Given the description of an element on the screen output the (x, y) to click on. 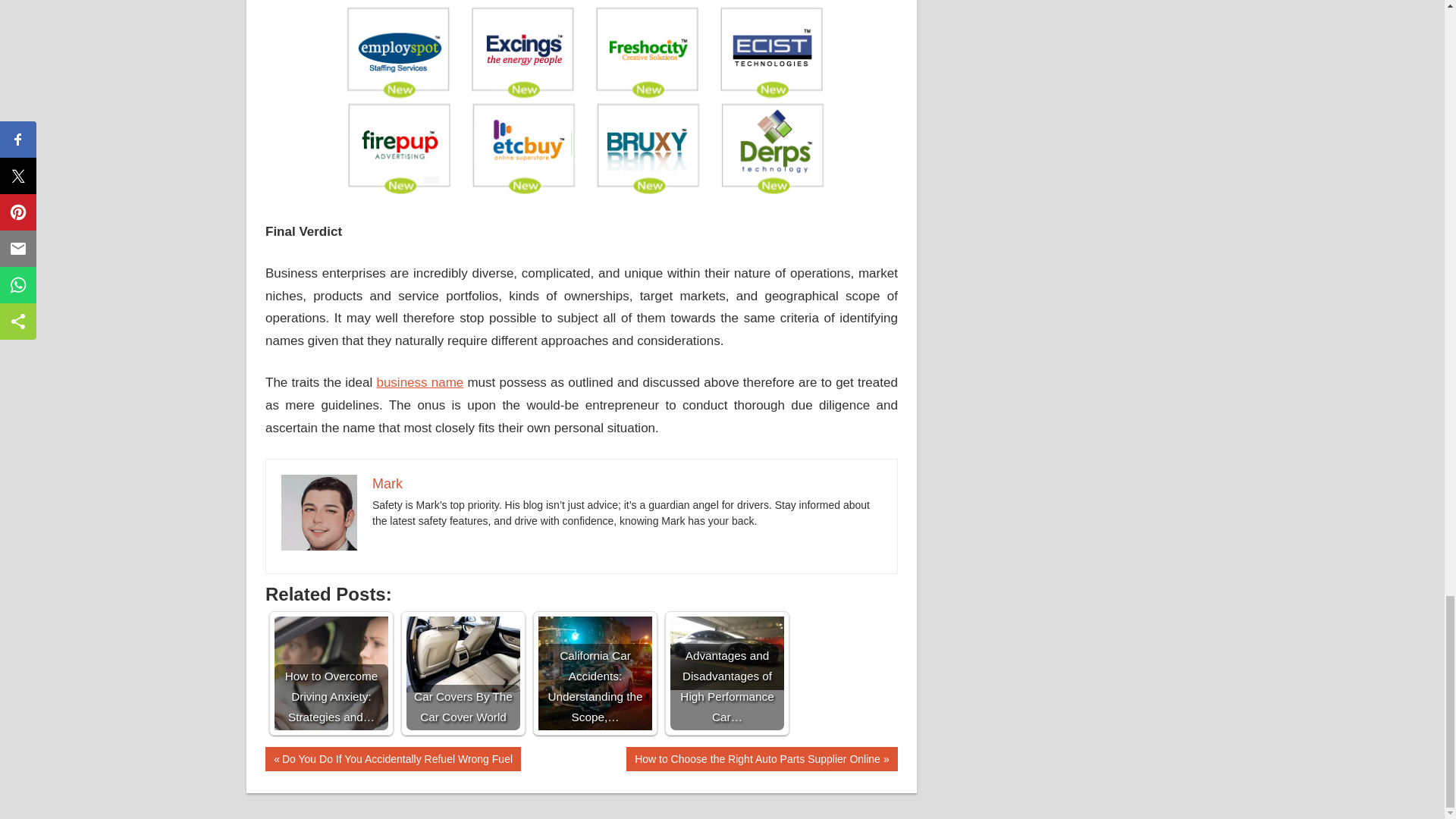
Mark Stanley (318, 512)
Car Covers By The Car Cover World (462, 654)
What Makes a Cool Business Name (581, 100)
business name (419, 382)
